Given the description of an element on the screen output the (x, y) to click on. 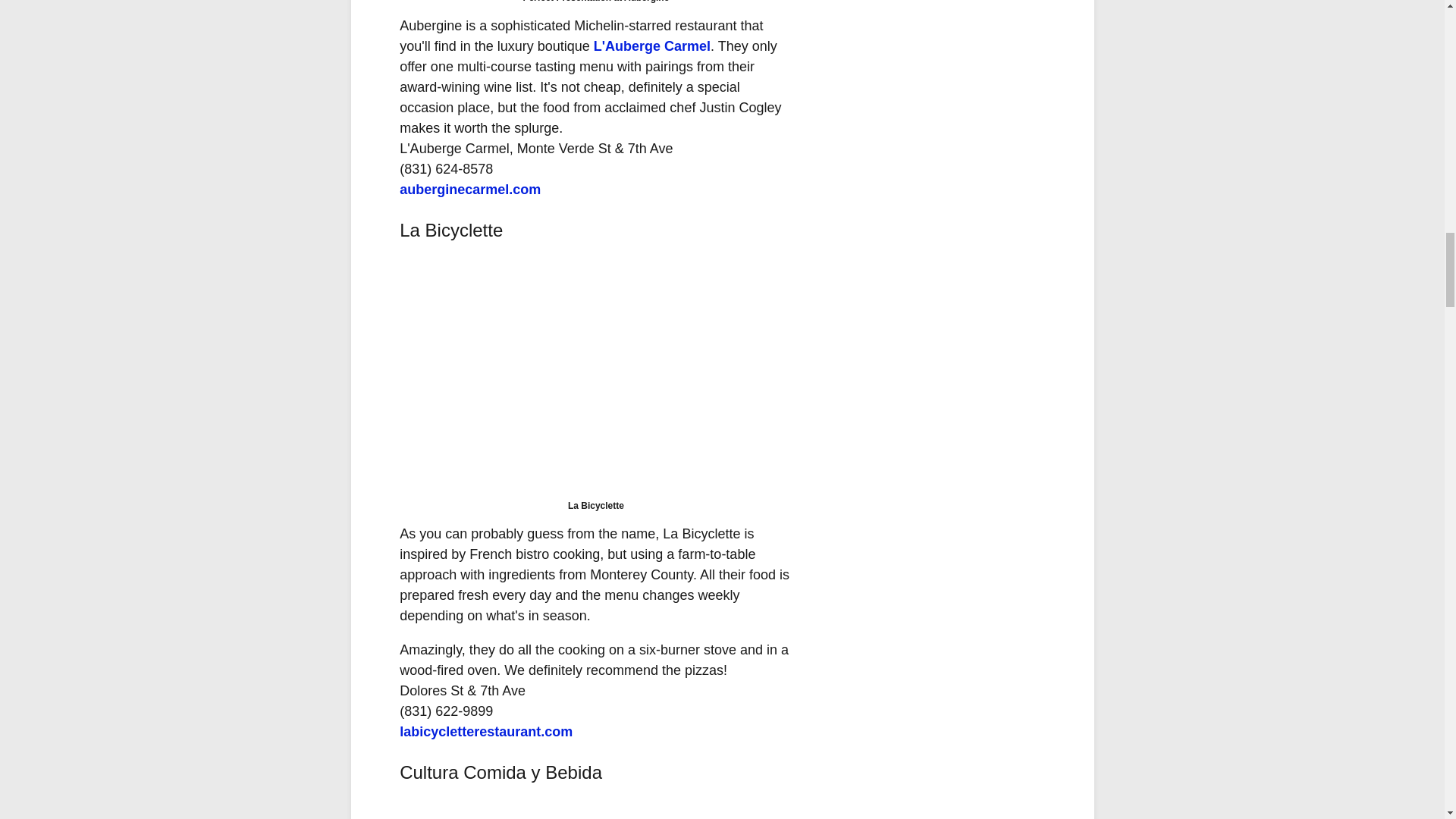
L'Auberge Carmel (652, 46)
labicycletterestaurant.com (485, 731)
Interior of La Bicyclette restaurant in Carmel (595, 373)
auberginecarmel.com (469, 189)
